Given the description of an element on the screen output the (x, y) to click on. 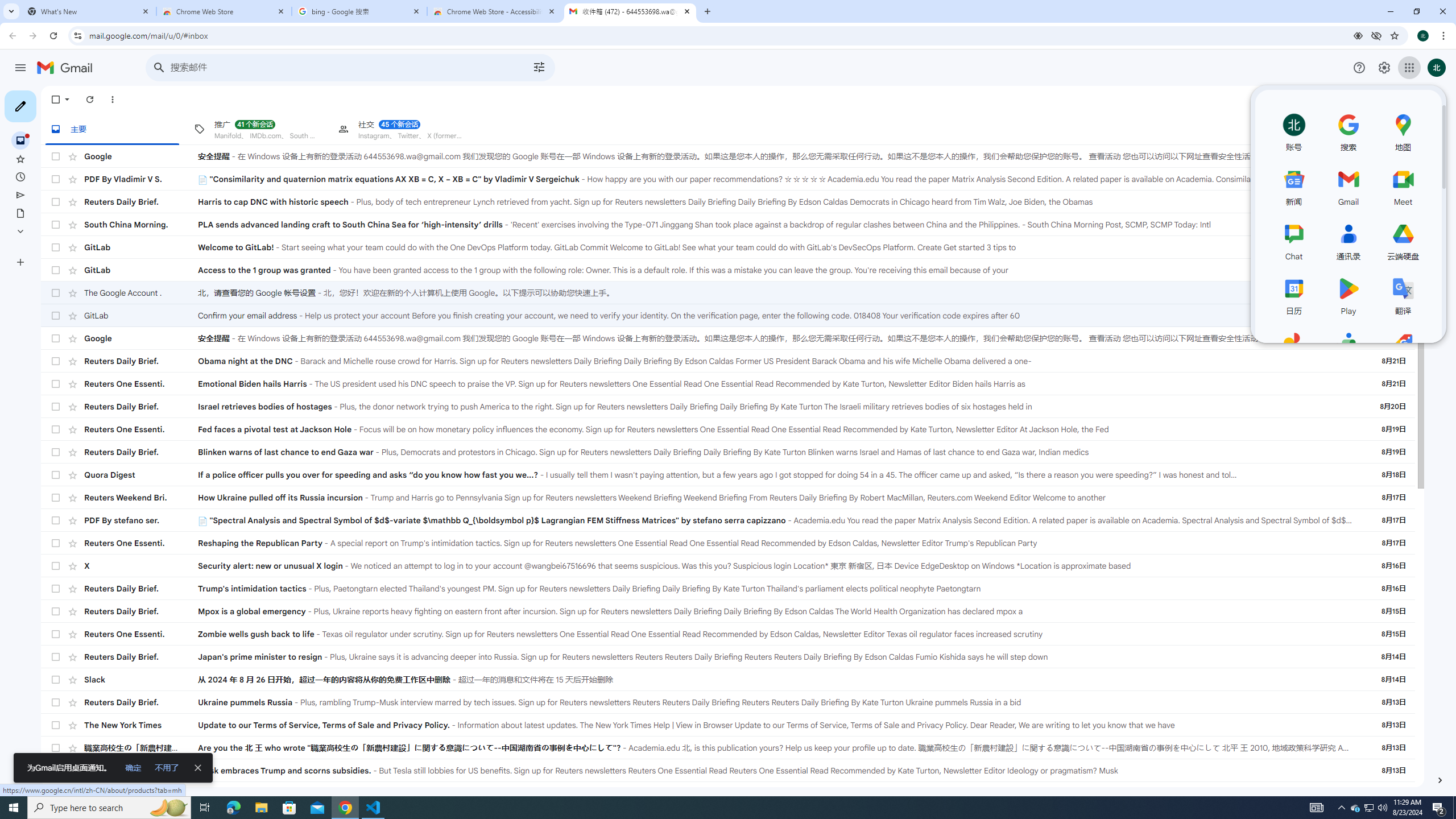
X (141, 565)
South China Morning. (141, 224)
